Given the description of an element on the screen output the (x, y) to click on. 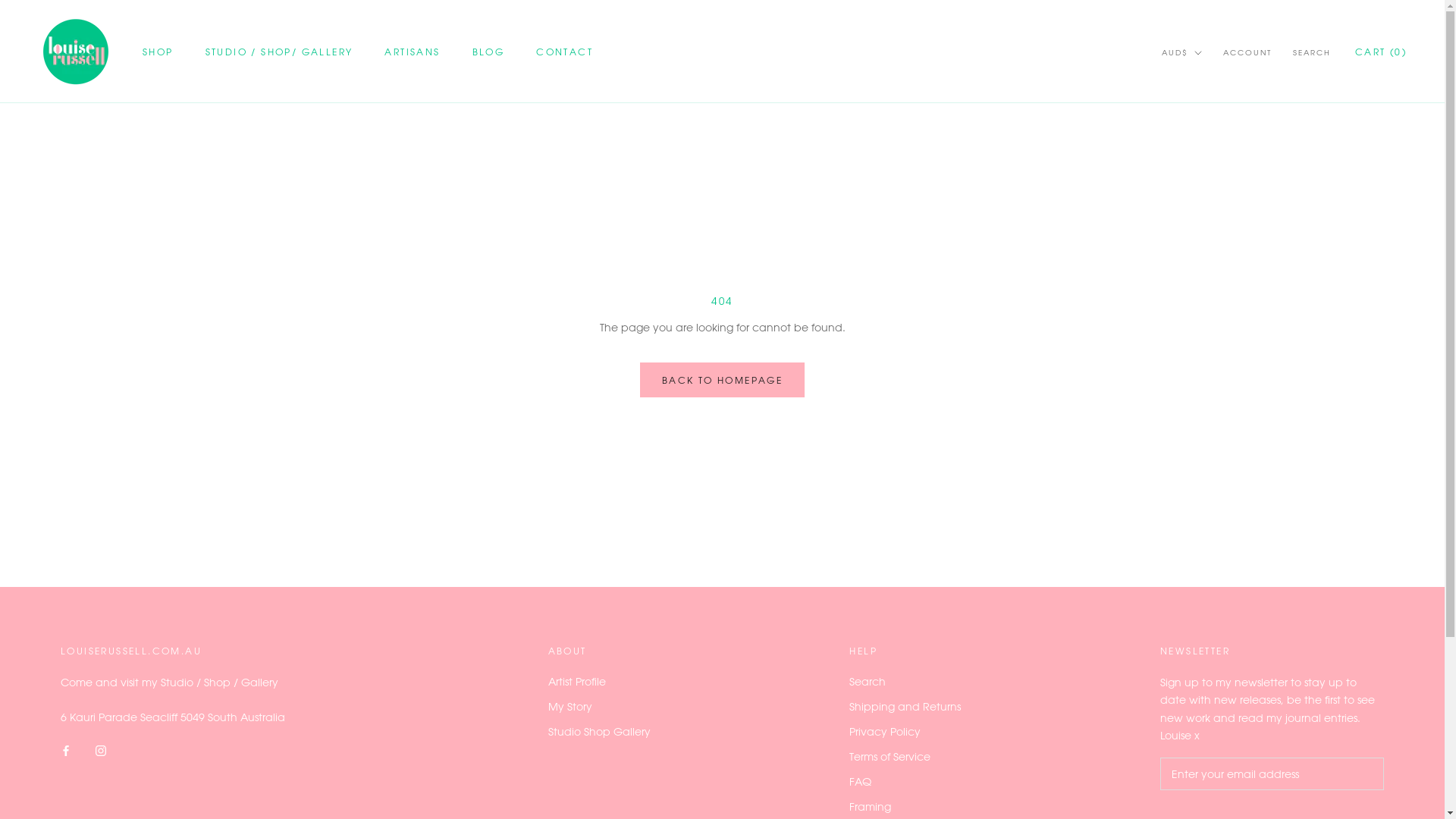
ACCOUNT Element type: text (1247, 53)
SGD Element type: text (1200, 144)
SHOP Element type: text (157, 51)
CART (0) Element type: text (1380, 51)
AUD$ Element type: text (1181, 53)
GBP Element type: text (1200, 104)
ARTISANS Element type: text (411, 51)
STUDIO / SHOP/ GALLERY
STUDIO / SHOP/ GALLERY Element type: text (279, 51)
AUD Element type: text (1200, 84)
Search Element type: text (904, 681)
Privacy Policy Element type: text (904, 731)
Framing Element type: text (904, 806)
CONTACT
CONTACT Element type: text (564, 51)
SEARCH Element type: text (1311, 53)
Artist Profile Element type: text (599, 681)
FAQ Element type: text (904, 781)
Studio Shop Gallery Element type: text (599, 731)
NZD Element type: text (1200, 124)
BLOG
BLOG Element type: text (488, 51)
Terms of Service Element type: text (904, 756)
My Story Element type: text (599, 706)
BACK TO HOMEPAGE Element type: text (722, 379)
USD Element type: text (1200, 164)
Shipping and Returns Element type: text (904, 706)
